Given the description of an element on the screen output the (x, y) to click on. 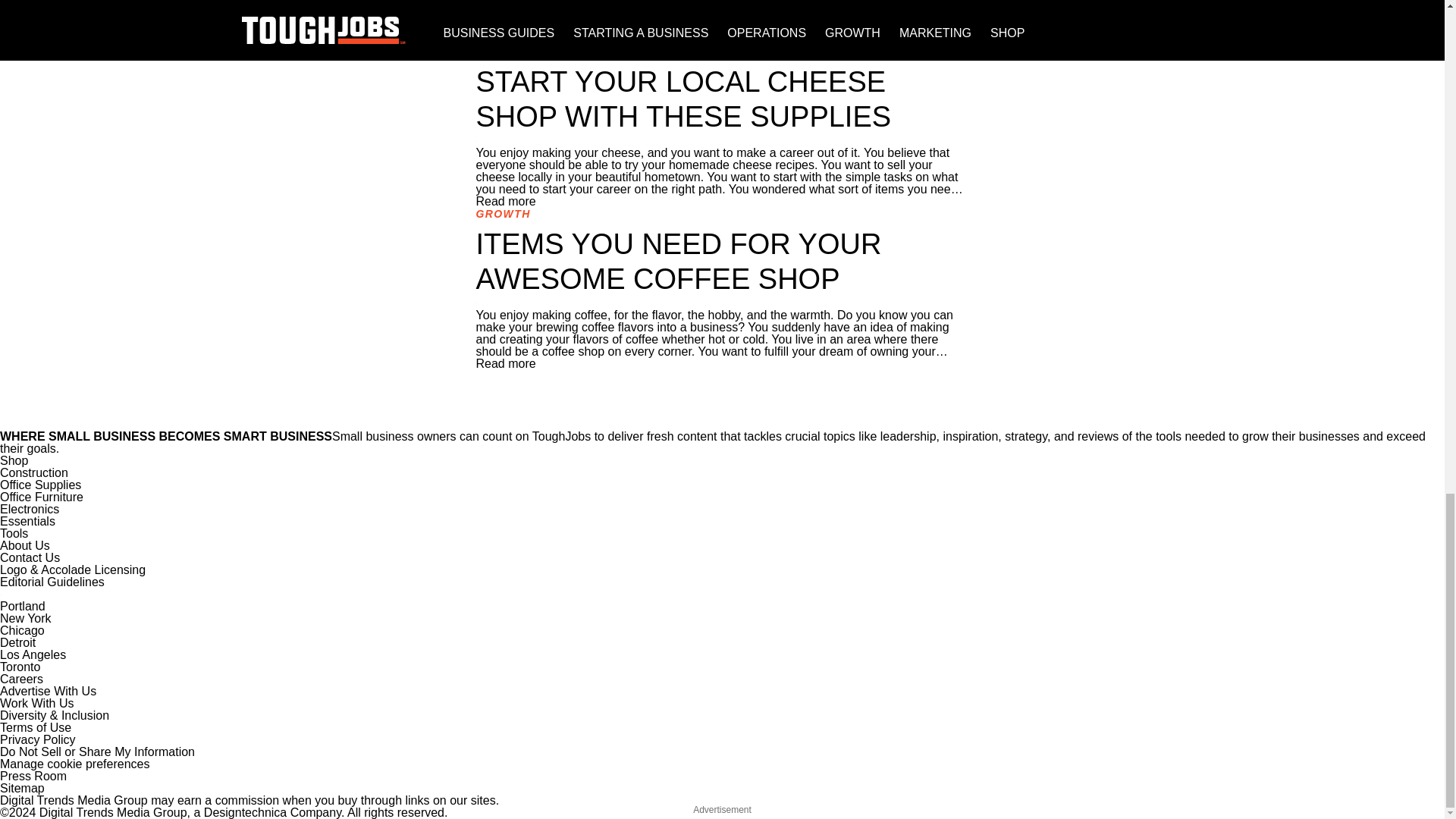
Read more (505, 201)
Read more (505, 38)
BUSINESS GUIDES (532, 51)
GROWTH (503, 214)
Office Supplies (40, 484)
Construction (34, 472)
Shop (13, 460)
Office Furniture (41, 496)
Read more (505, 363)
